Given the description of an element on the screen output the (x, y) to click on. 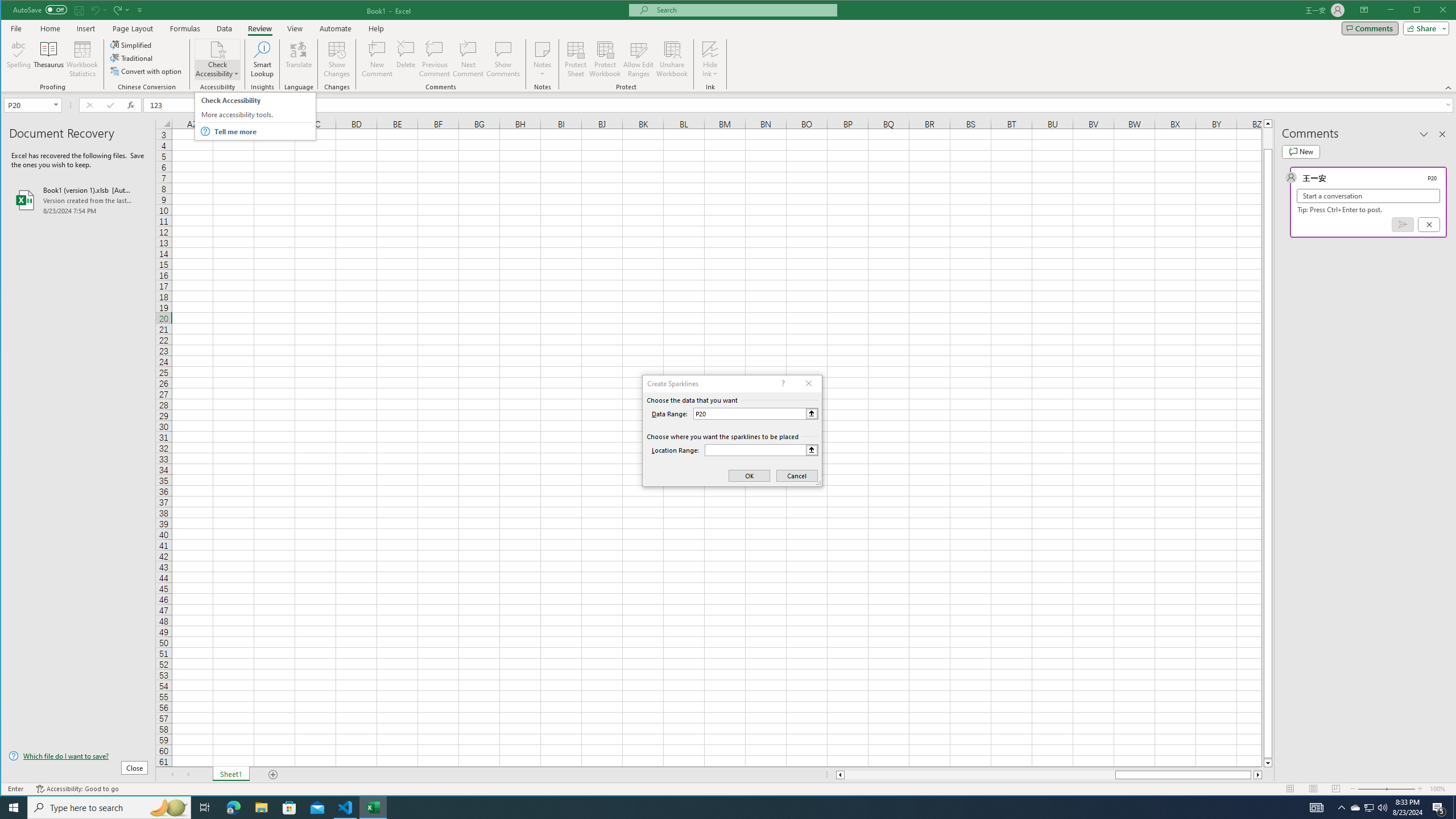
Page up (1267, 138)
Start a conversation (1368, 195)
Workbook Statistics (82, 59)
Notes (541, 59)
Show Changes (335, 59)
